Given the description of an element on the screen output the (x, y) to click on. 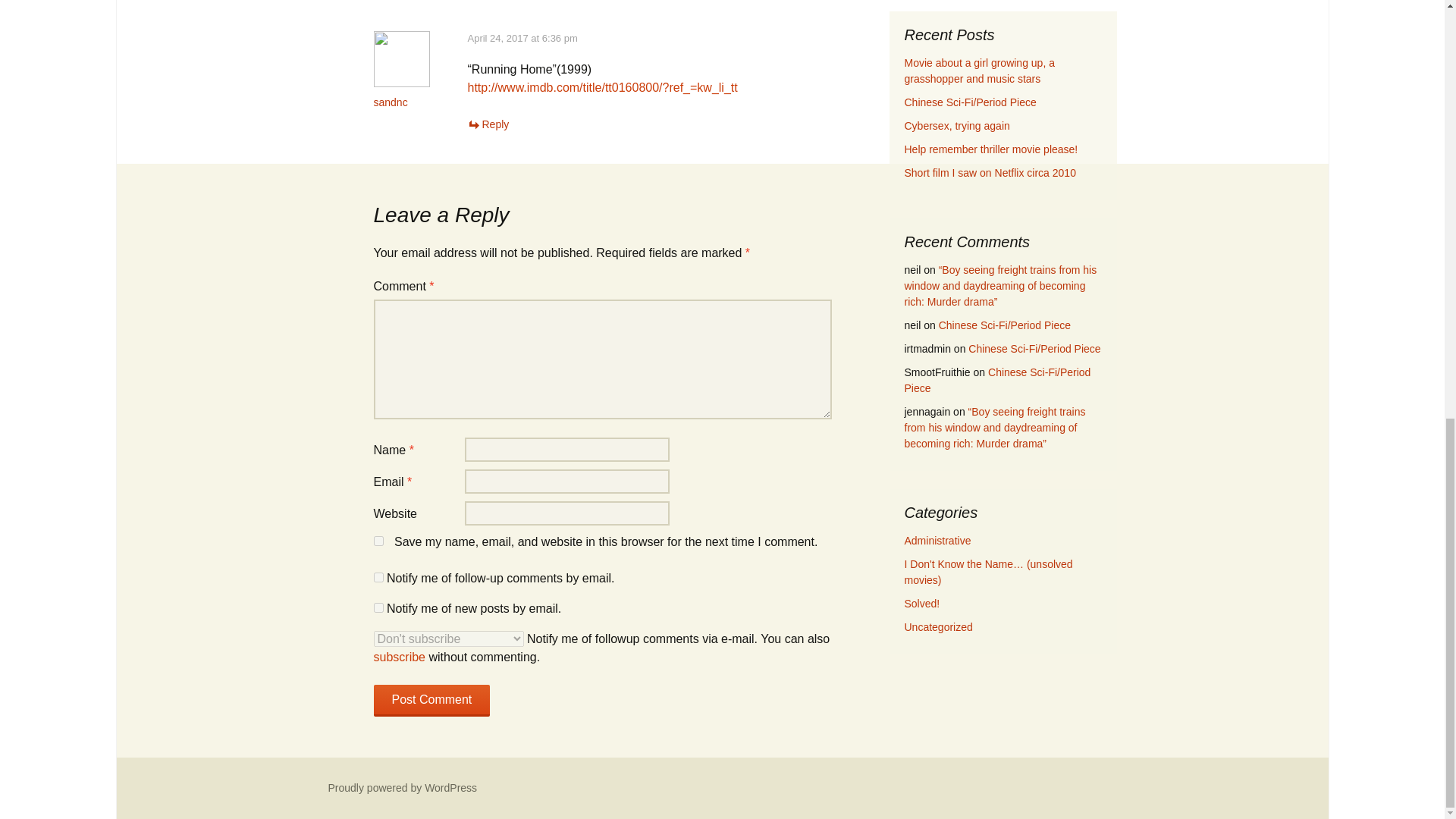
subscribe (377, 577)
Help remember thriller movie please! (990, 149)
Administrative (937, 540)
Uncategorized (938, 626)
Post Comment (430, 700)
yes (377, 541)
Cybersex, trying again (956, 125)
Movie about a girl growing up, a grasshopper and music stars (979, 70)
Solved! (921, 603)
April 24, 2017 at 6:36 pm (521, 38)
Reply (487, 123)
subscribe (377, 607)
subscribe (398, 656)
Short film I saw on Netflix circa 2010 (989, 173)
Post Comment (430, 700)
